Given the description of an element on the screen output the (x, y) to click on. 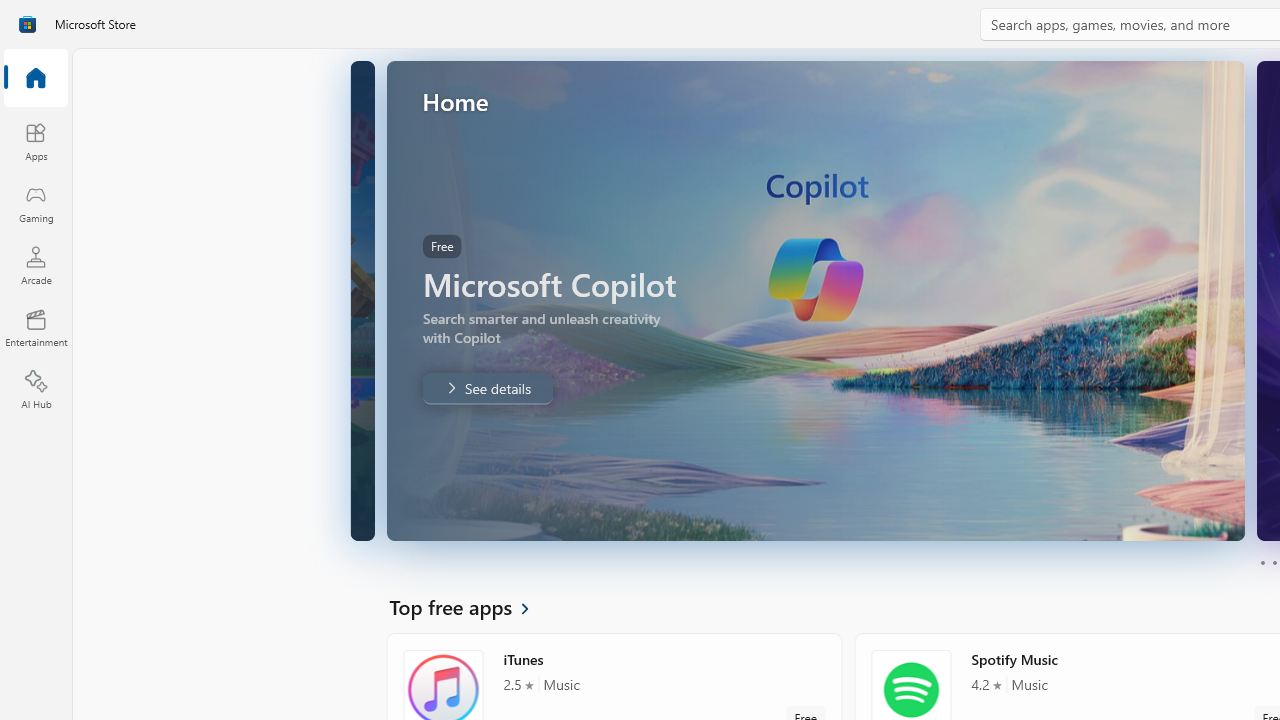
Home (35, 79)
See all  Top free apps (471, 606)
Class: Image (27, 24)
AI Hub (35, 390)
Page 1 (1261, 562)
Gaming (35, 203)
Page 2 (1274, 562)
Arcade (35, 265)
Apps (35, 141)
AutomationID: Image (817, 300)
Entertainment (35, 327)
